Given the description of an element on the screen output the (x, y) to click on. 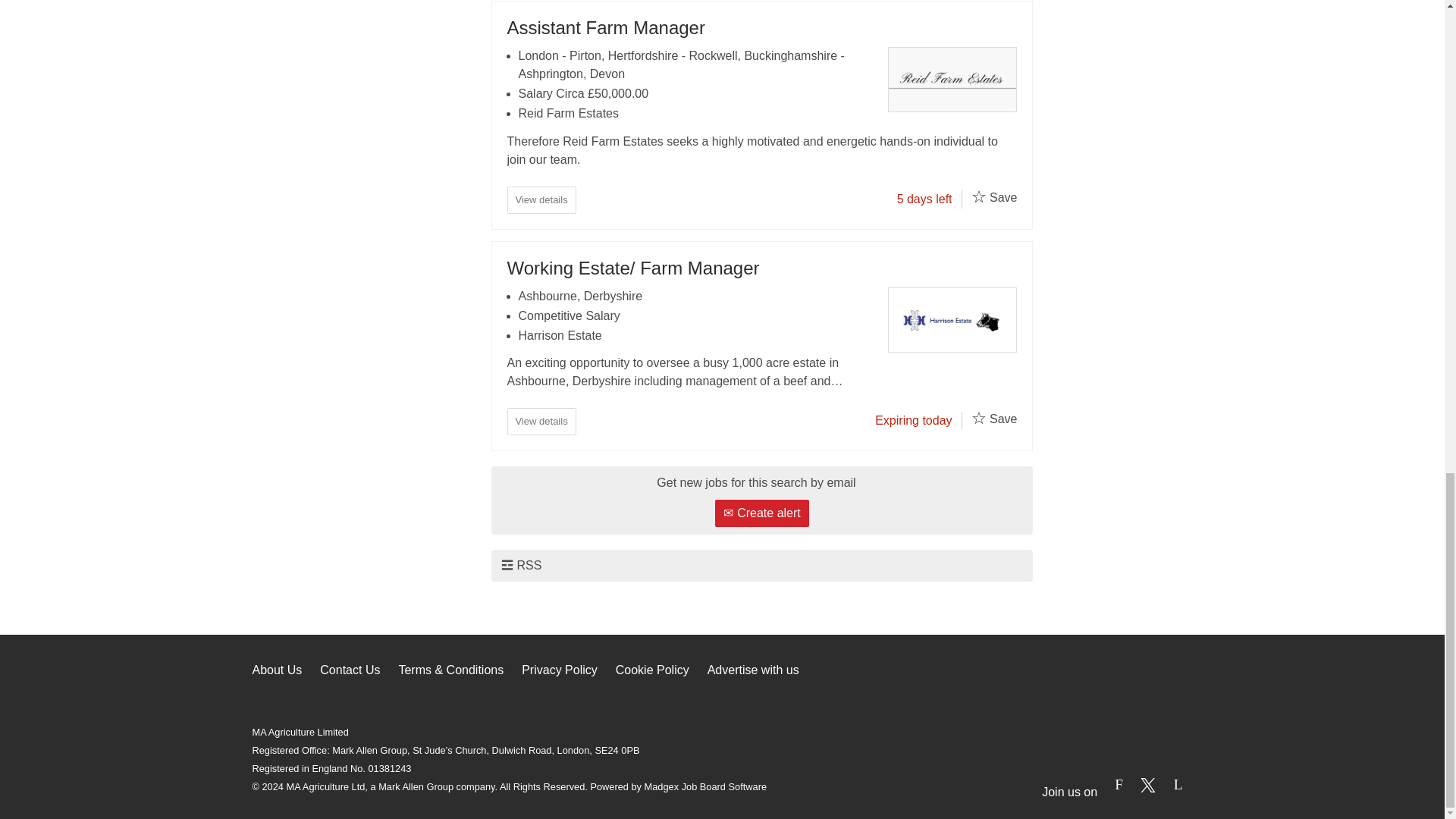
Add to shortlist (979, 417)
Add to shortlist (979, 196)
